Given the description of an element on the screen output the (x, y) to click on. 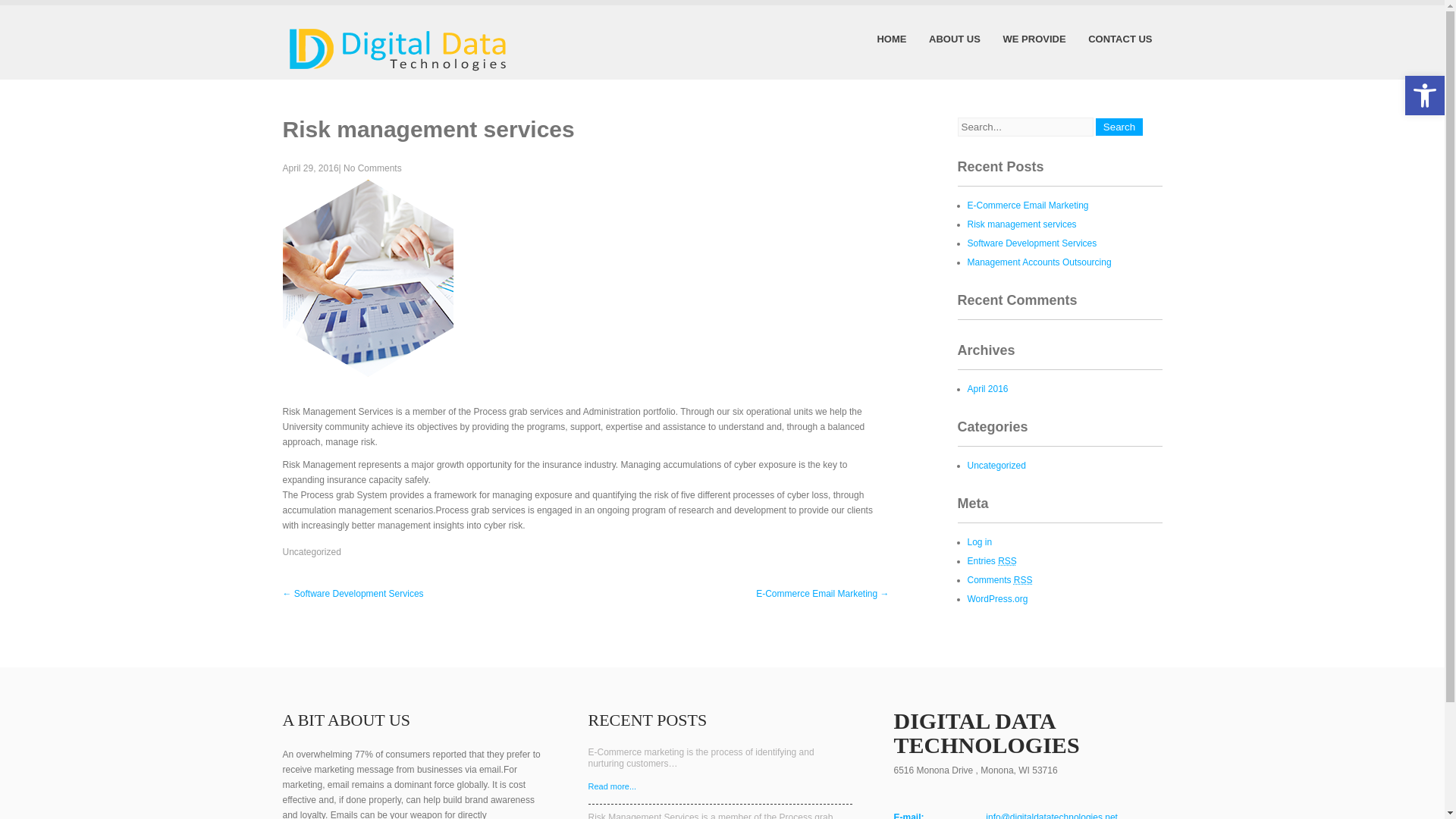
WE PROVIDE (1033, 38)
Search (1119, 126)
E-Commerce Email Marketing (1028, 204)
No Comments (372, 167)
ABOUT US (954, 38)
Management Accounts Outsourcing (1040, 262)
WordPress.org (997, 598)
Search (1119, 126)
Log in (980, 542)
Uncategorized (997, 465)
